Given the description of an element on the screen output the (x, y) to click on. 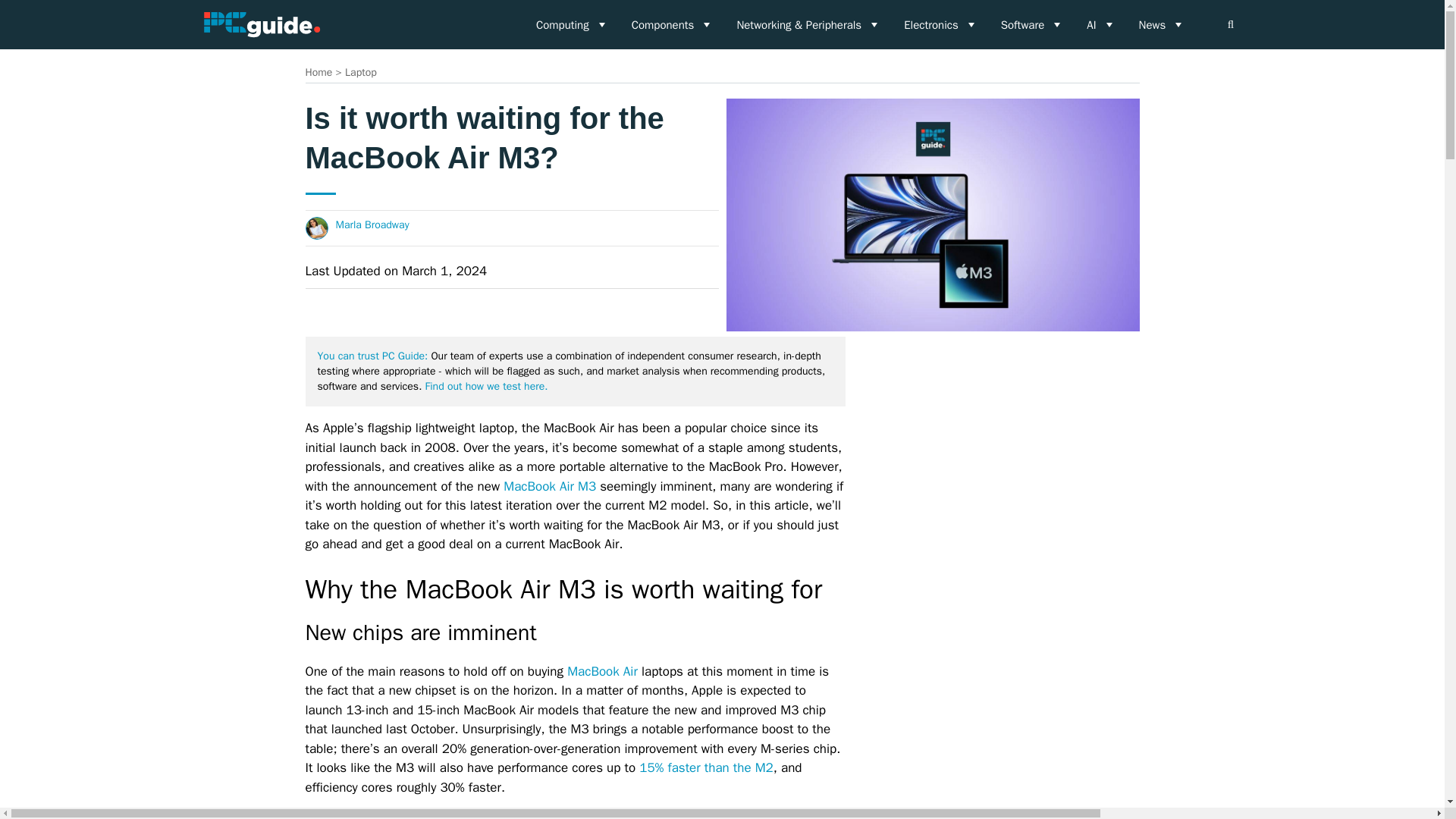
PC Guide (260, 23)
Computing (571, 23)
PC Guide (260, 24)
